Given the description of an element on the screen output the (x, y) to click on. 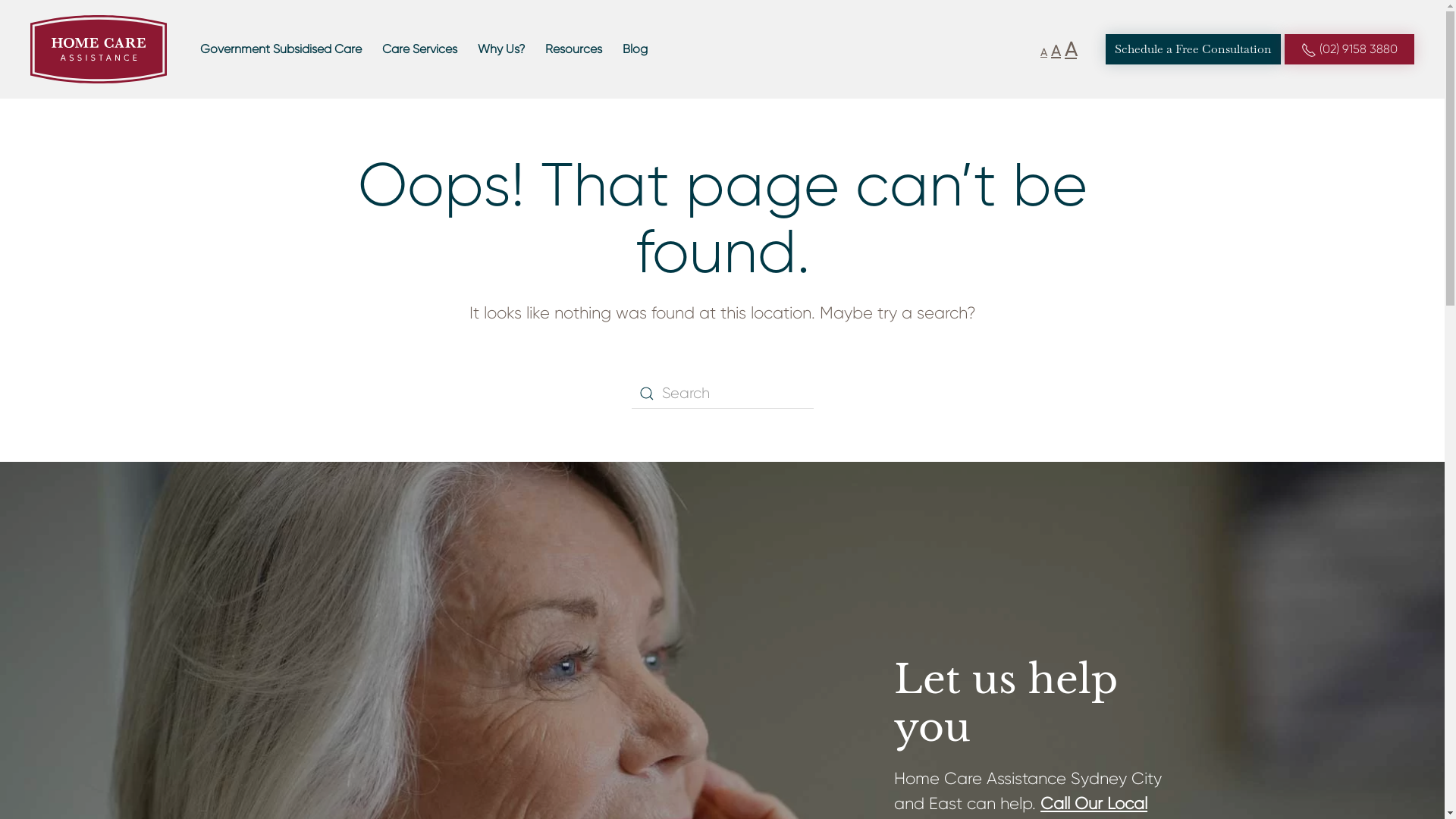
Care Services Element type: text (419, 48)
Resources Element type: text (573, 48)
A
Increase font size. Element type: text (1070, 48)
Government Subsidised Care Element type: text (280, 48)
A
Decrease font size. Element type: text (1043, 51)
 (02) 9158 3880 Element type: text (1349, 49)
Why Us? Element type: text (501, 48)
Blog Element type: text (635, 48)
Schedule a Free Consultation Element type: text (1192, 49)
A
Reset font size. Element type: text (1055, 50)
